Given the description of an element on the screen output the (x, y) to click on. 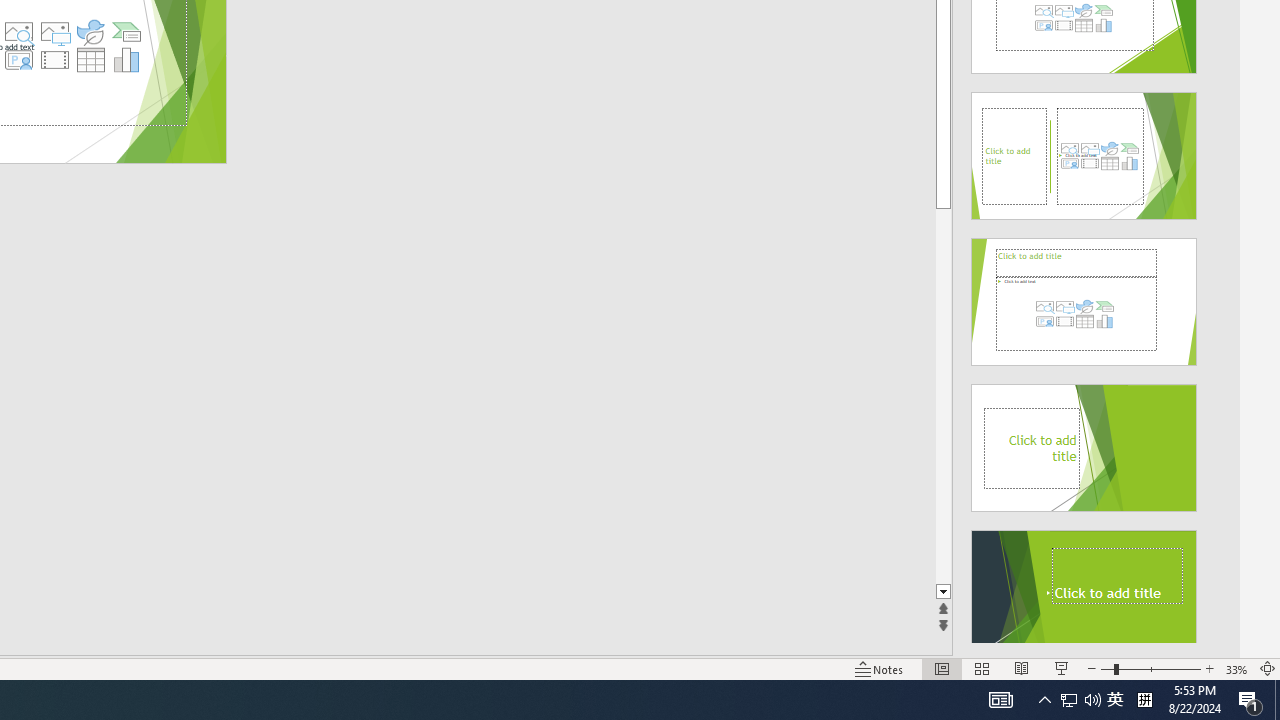
Insert Cameo (18, 60)
Insert Table (91, 60)
Design Idea (1083, 587)
Insert Video (54, 60)
